Given the description of an element on the screen output the (x, y) to click on. 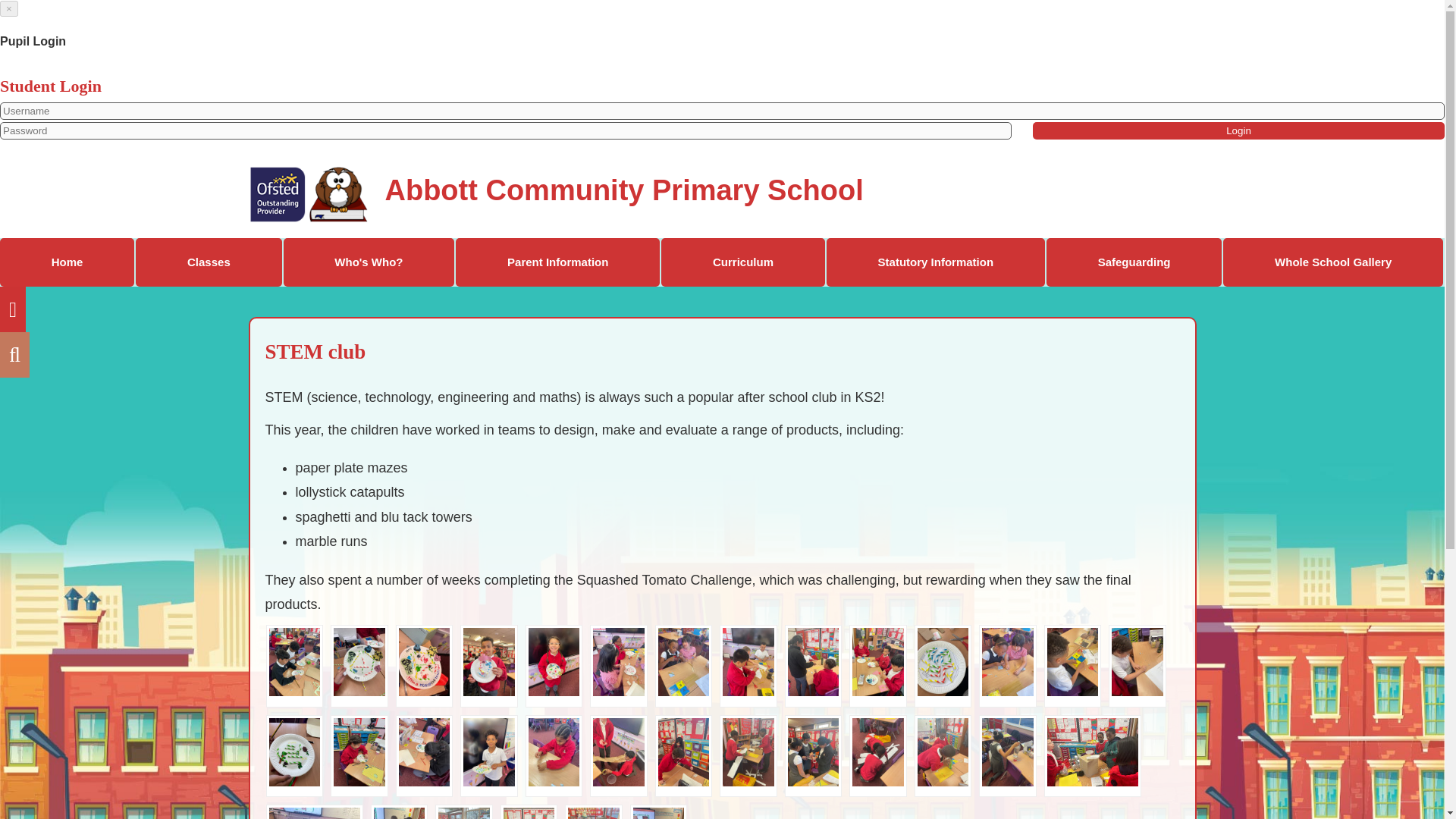
Abbott Community Primary School (555, 192)
Who's Who? (368, 262)
Curriculum (743, 262)
Home (66, 262)
Classes (208, 262)
Parent Information (557, 262)
